Given the description of an element on the screen output the (x, y) to click on. 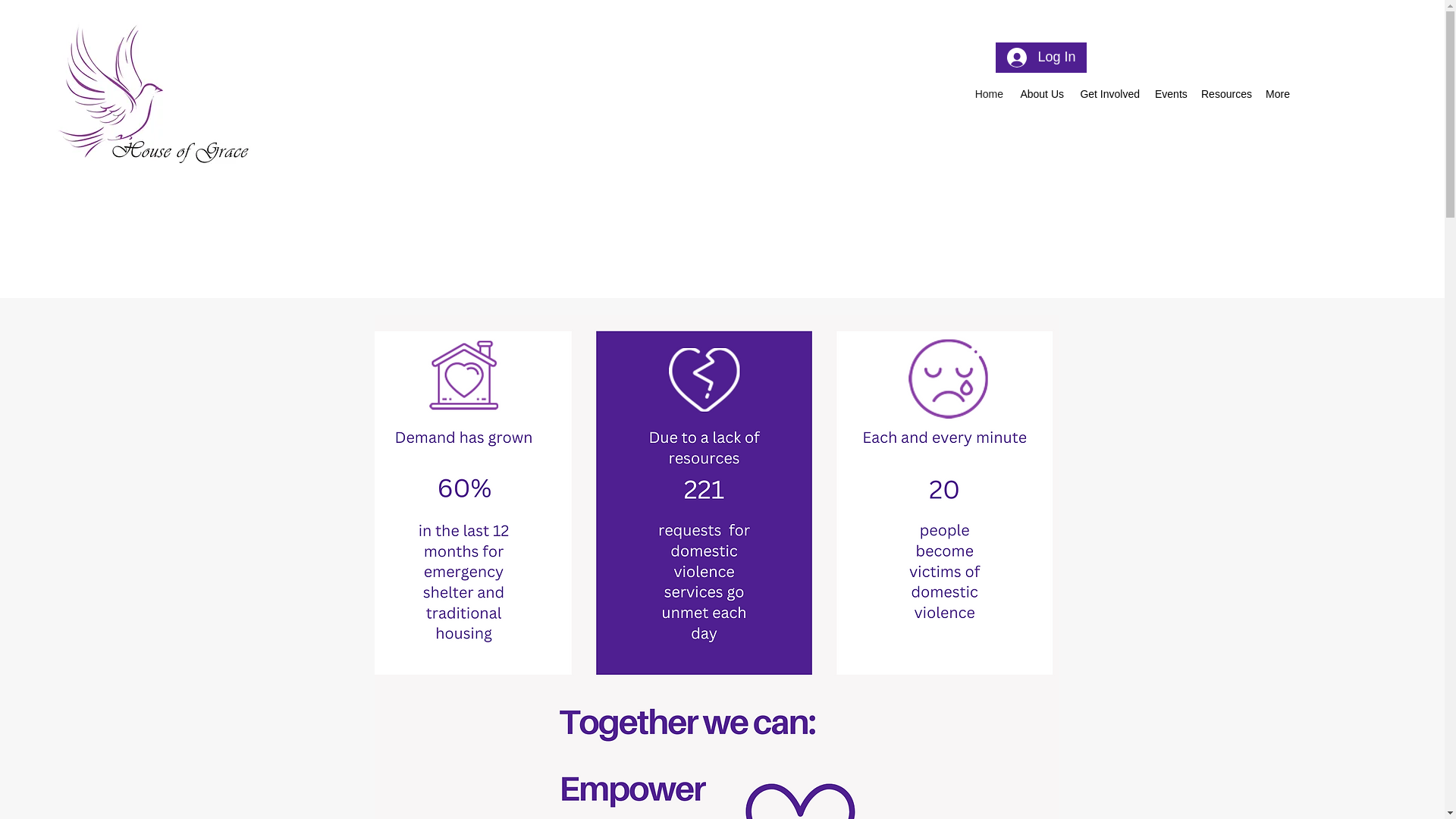
Home (988, 93)
Get Involved (1109, 93)
About Us (1040, 93)
Events (1170, 93)
Resources (1225, 93)
Log In (1040, 57)
